Given the description of an element on the screen output the (x, y) to click on. 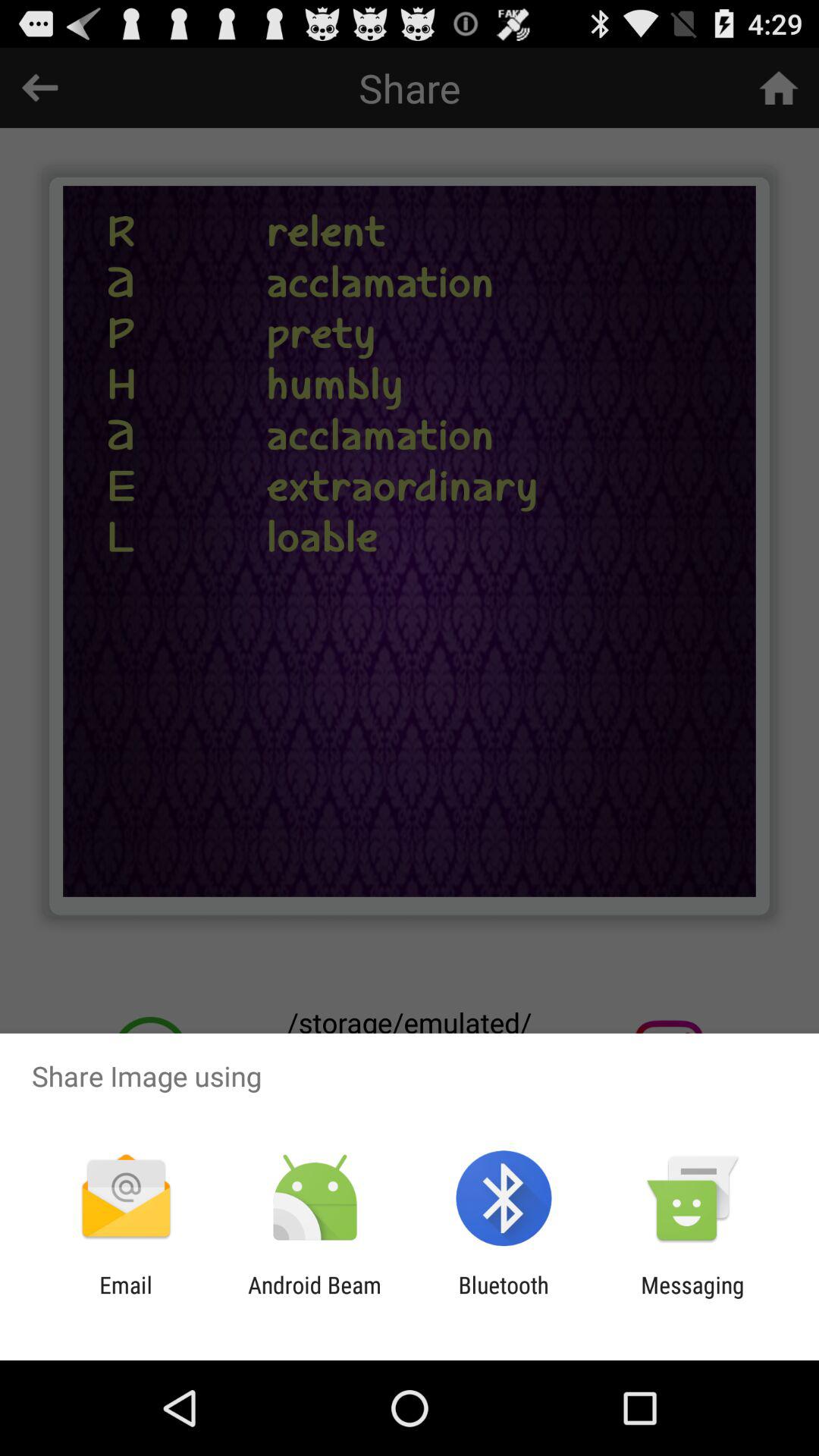
select app to the left of messaging app (503, 1298)
